Given the description of an element on the screen output the (x, y) to click on. 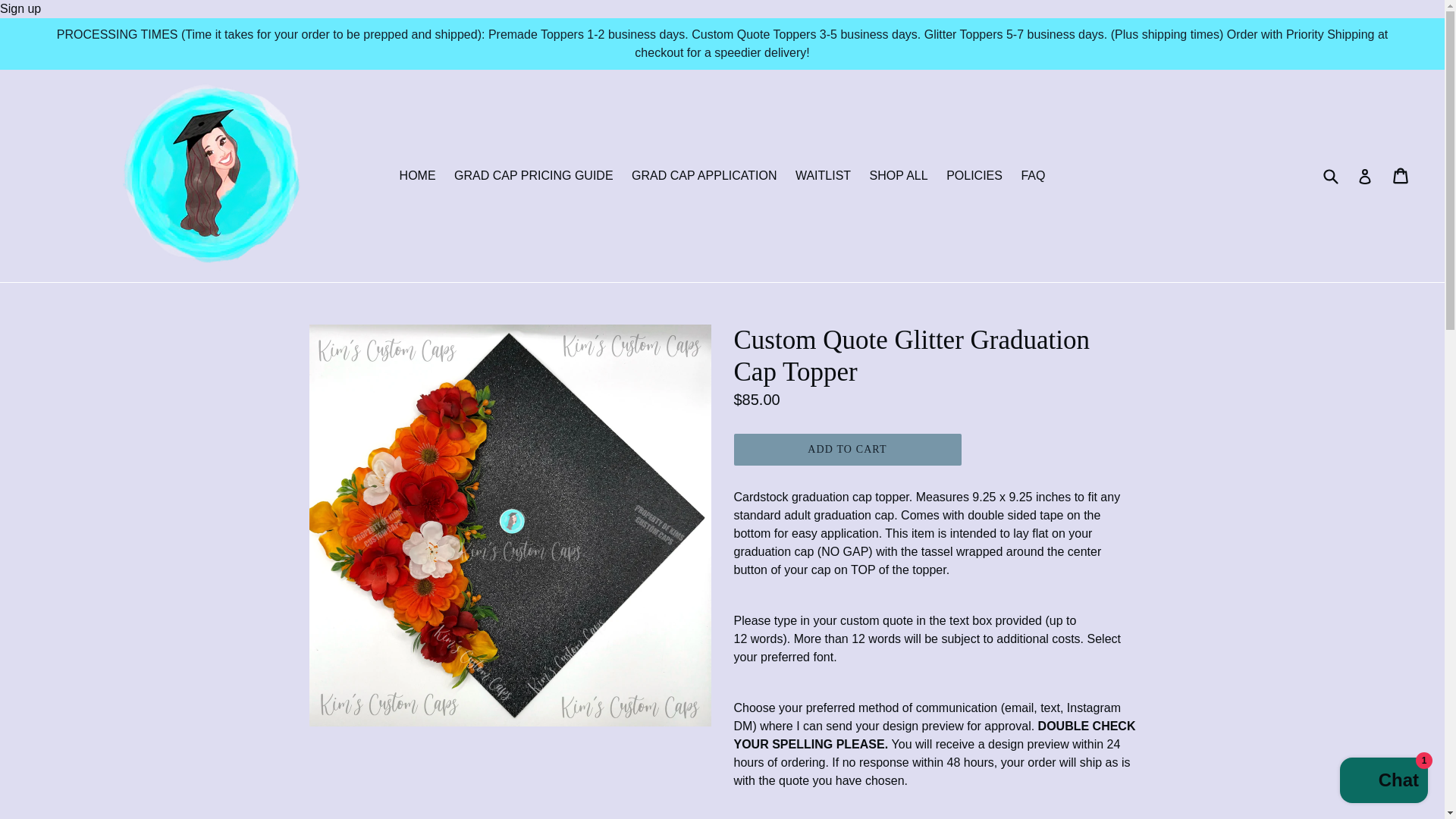
SHOP ALL (898, 175)
GRAD CAP APPLICATION (704, 175)
FAQ (1032, 175)
POLICIES (974, 175)
WAITLIST (823, 175)
HOME (417, 175)
ADD TO CART (846, 450)
Shopify online store chat (1383, 781)
Sign up (20, 8)
GRAD CAP PRICING GUIDE (533, 175)
